Given the description of an element on the screen output the (x, y) to click on. 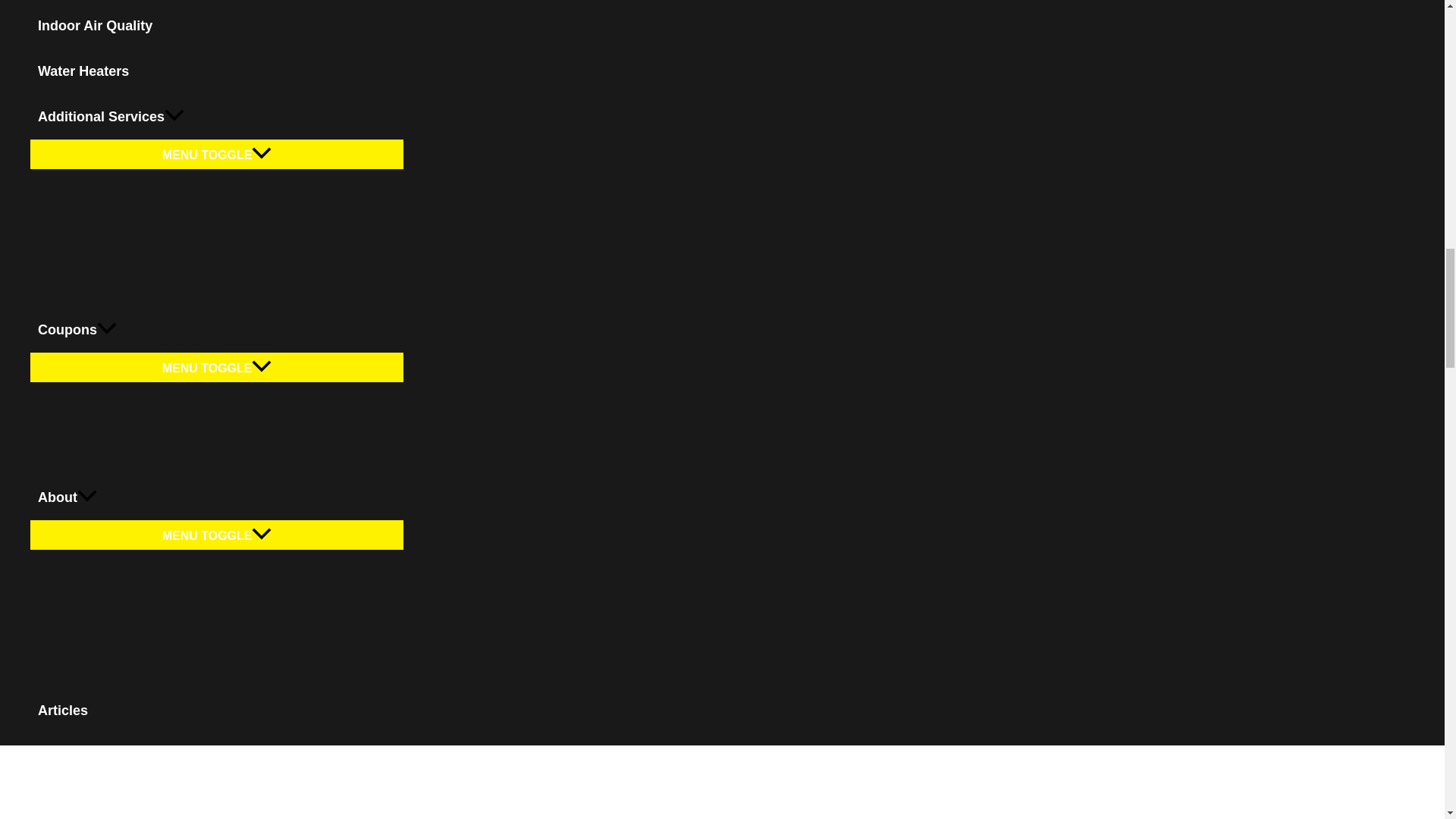
Additional Services (216, 116)
MENU TOGGLE (216, 153)
Indoor Air Quality (216, 25)
Water Heaters (216, 71)
